Given the description of an element on the screen output the (x, y) to click on. 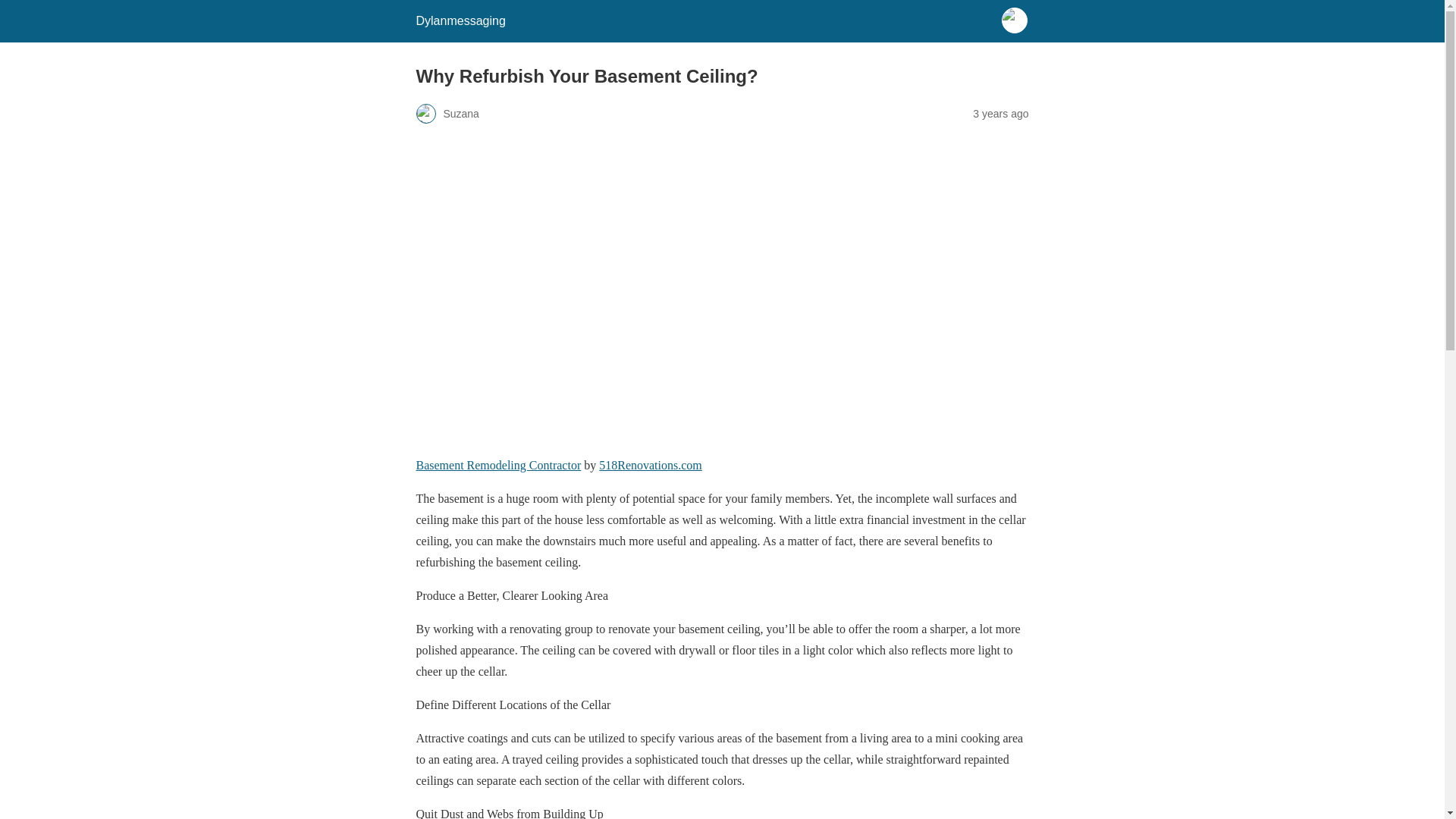
Dylanmessaging (459, 20)
518Renovations.com (649, 464)
Basement Remodeling Contractor (497, 464)
